Given the description of an element on the screen output the (x, y) to click on. 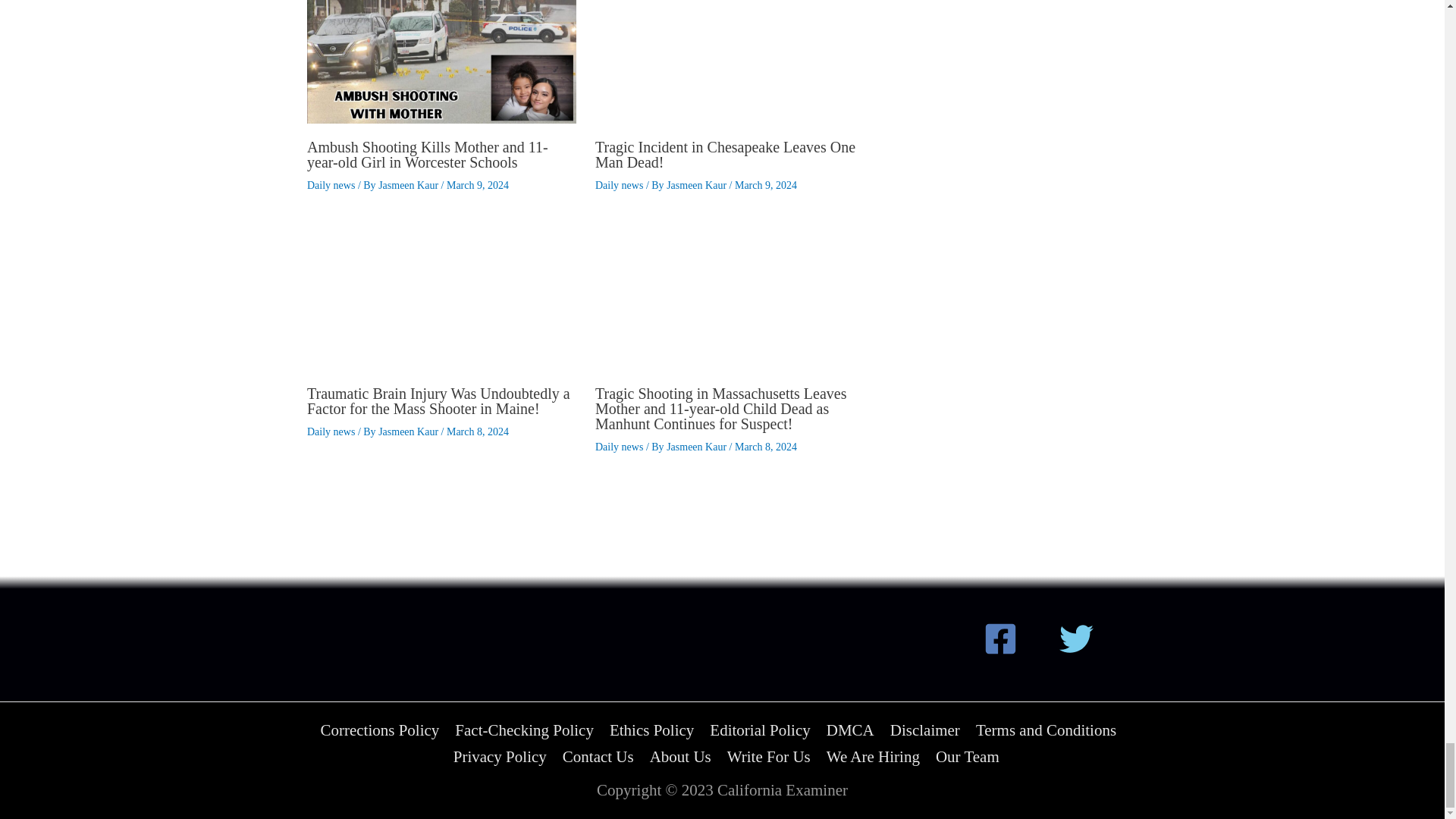
View all posts by Jasmeen Kaur (409, 184)
View all posts by Jasmeen Kaur (409, 431)
View all posts by Jasmeen Kaur (697, 446)
View all posts by Jasmeen Kaur (697, 184)
